Given the description of an element on the screen output the (x, y) to click on. 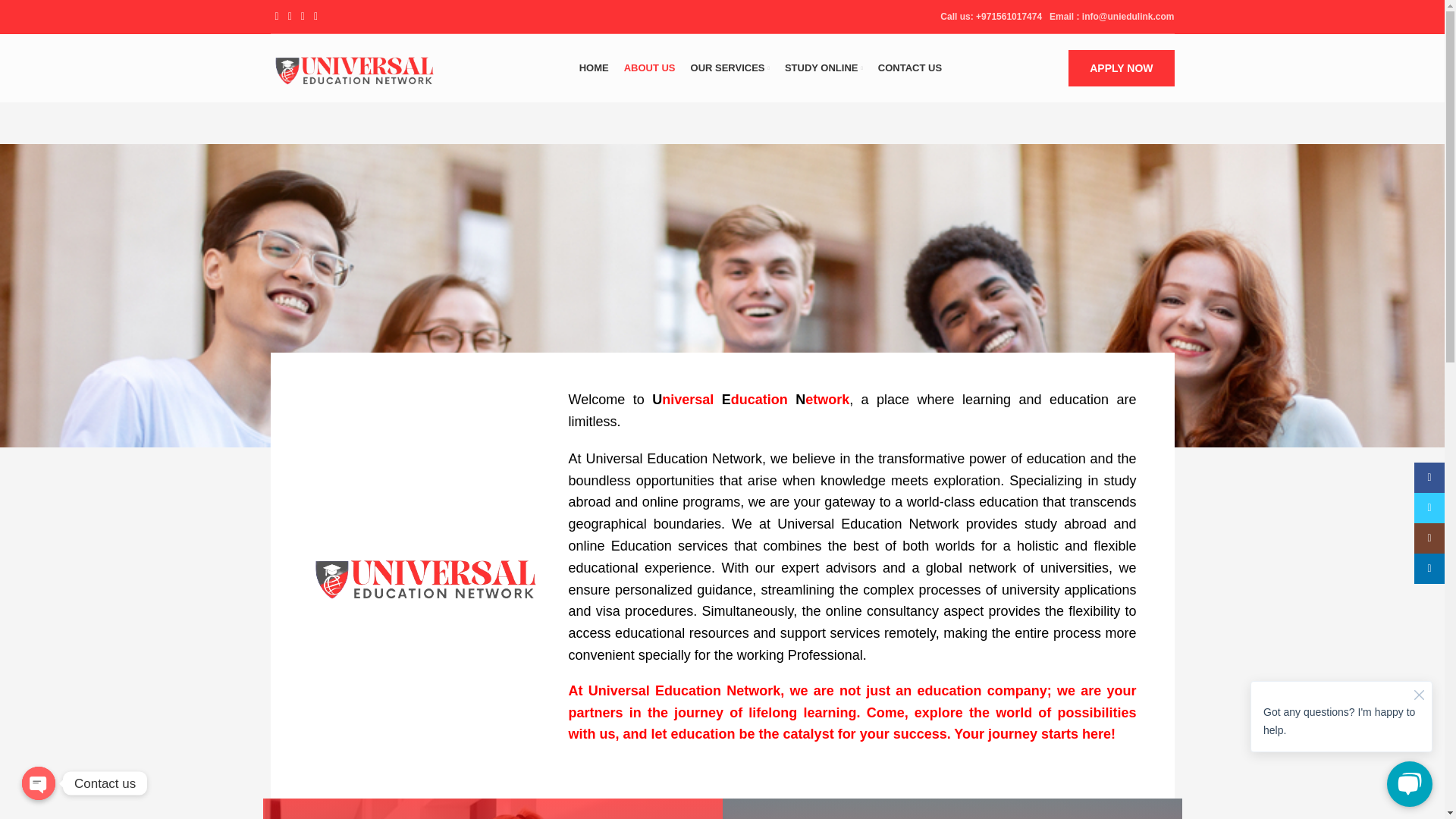
STUDY ONLINE (823, 68)
HOME (593, 68)
OUR SERVICES (730, 68)
ABOUT US (649, 68)
